Given the description of an element on the screen output the (x, y) to click on. 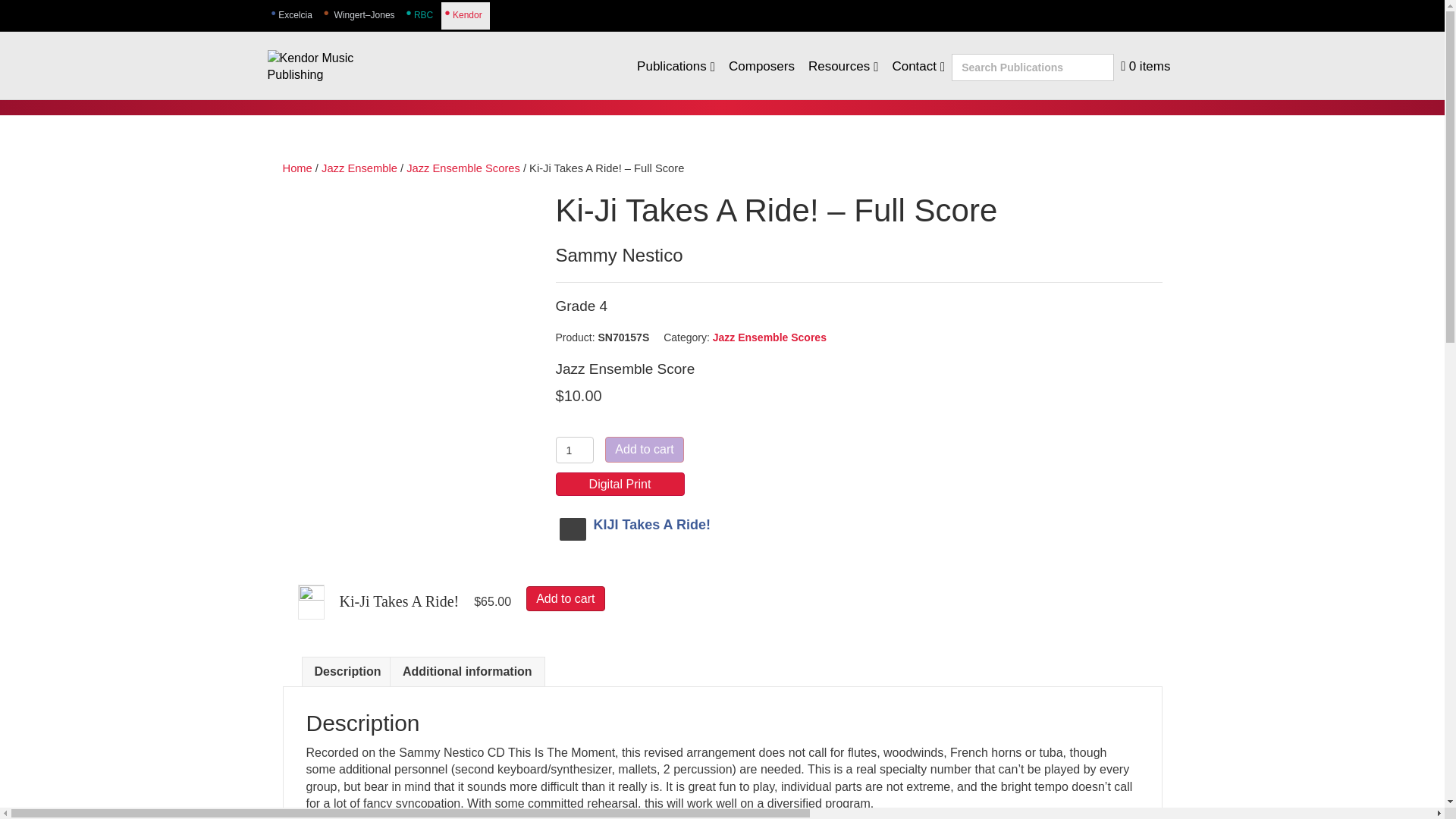
1 (574, 449)
Digital Print (619, 484)
Start shopping (1144, 65)
